Given the description of an element on the screen output the (x, y) to click on. 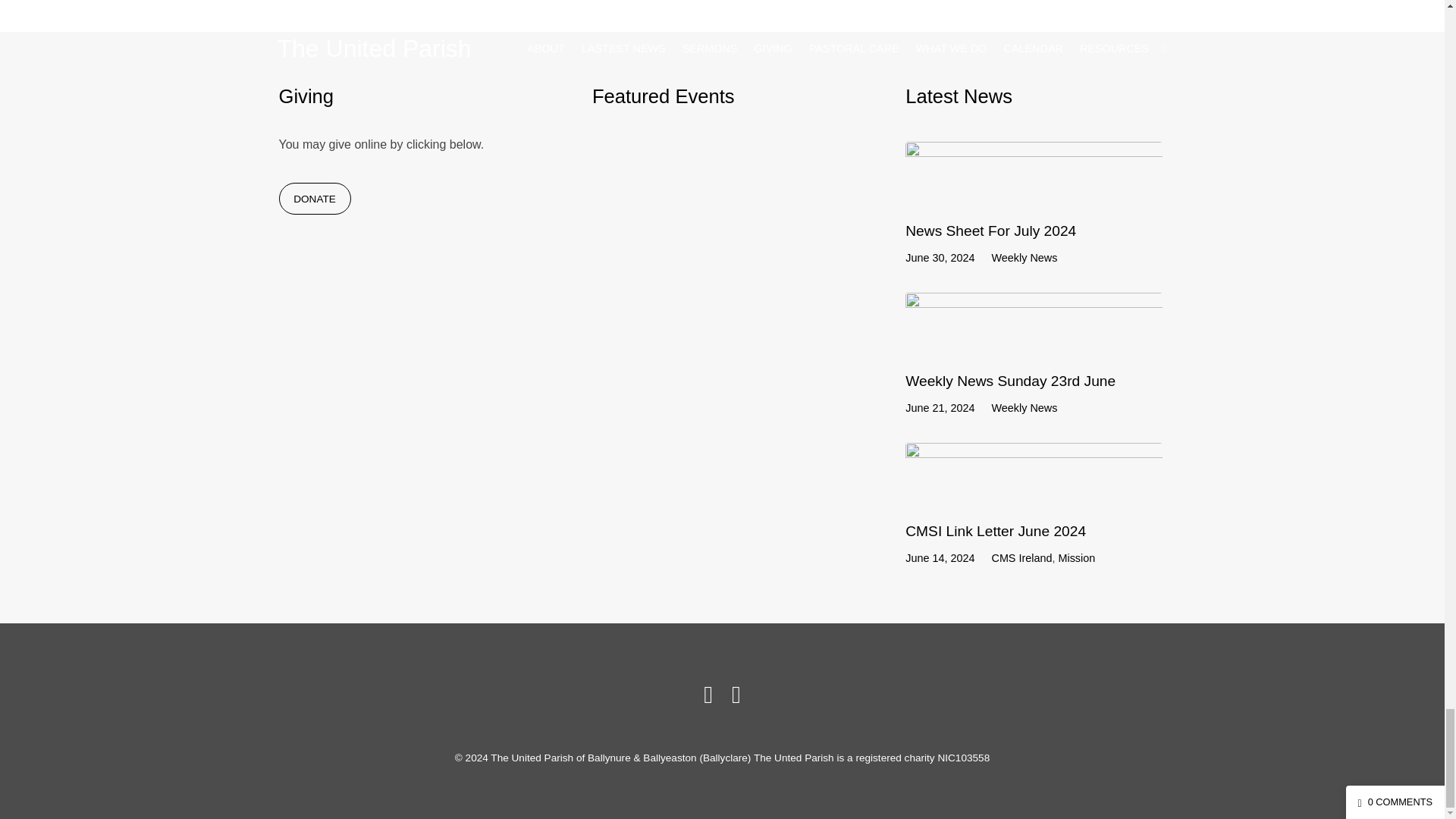
Weekly News Sunday 23rd June (1010, 381)
CMSI Link Letter June 2024 (995, 530)
News Sheet For July 2024 (1033, 194)
News Sheet For July 2024 (990, 230)
Weekly News Sunday 23rd June (1033, 344)
CMSI Link Letter June 2024 (1033, 495)
